Given the description of an element on the screen output the (x, y) to click on. 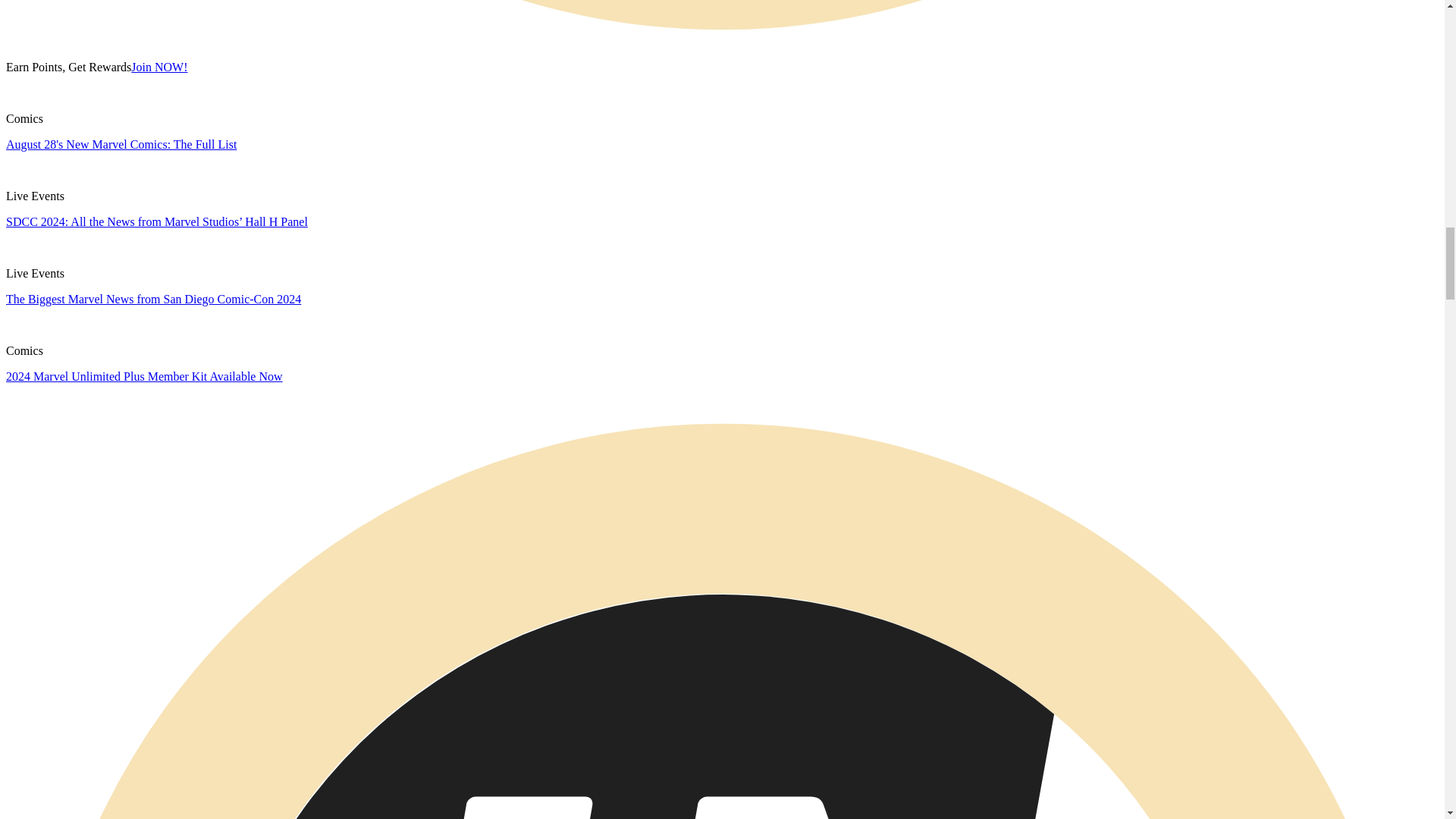
Join NOW! (159, 66)
August 28's New Marvel Comics: The Full List (120, 144)
2024 Marvel Unlimited Plus Member Kit Available Now (143, 376)
The Biggest Marvel News from San Diego Comic-Con 2024 (153, 298)
